Given the description of an element on the screen output the (x, y) to click on. 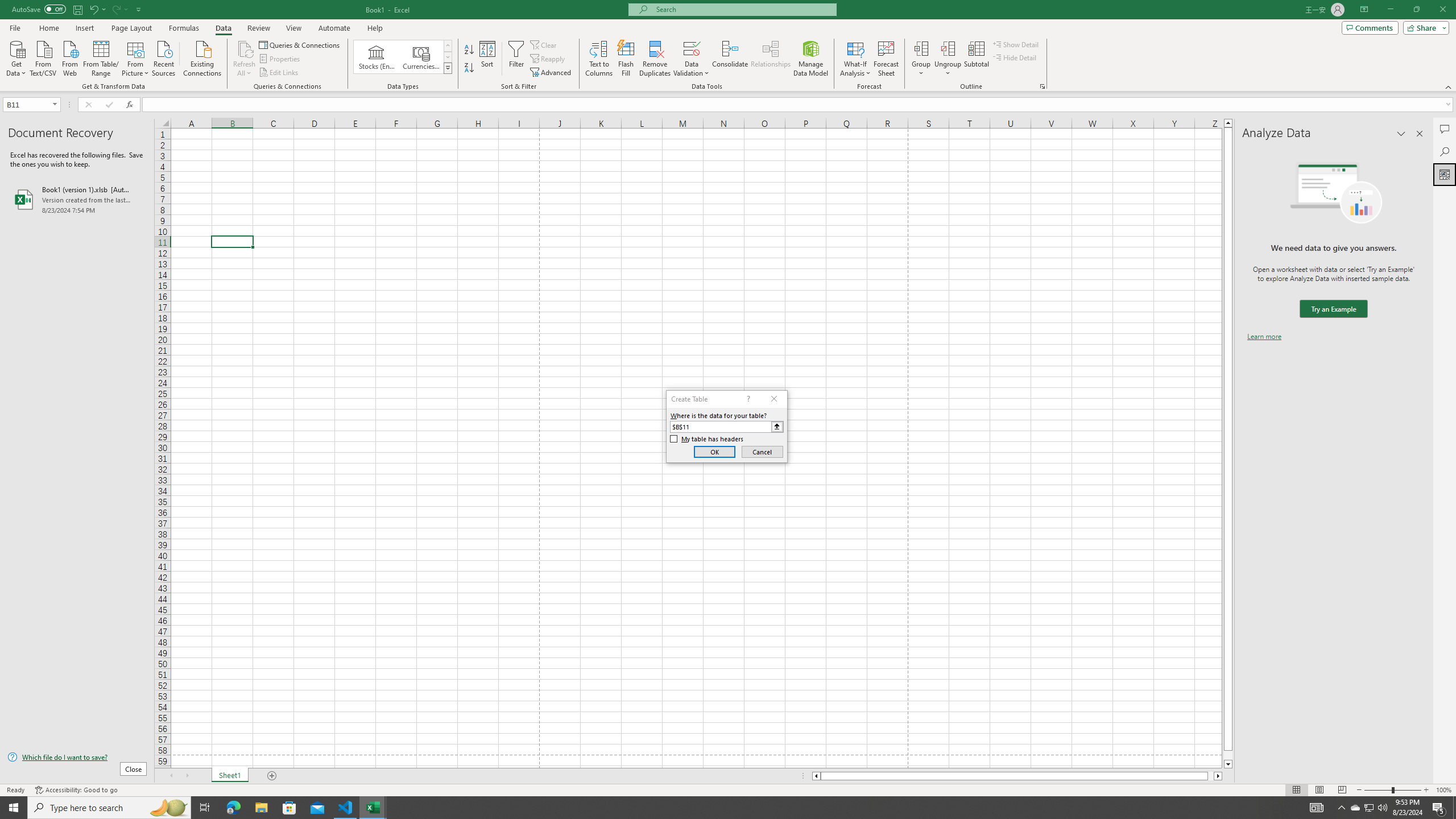
Zoom In (1426, 790)
Scroll Left (171, 775)
Search (1444, 151)
